Given the description of an element on the screen output the (x, y) to click on. 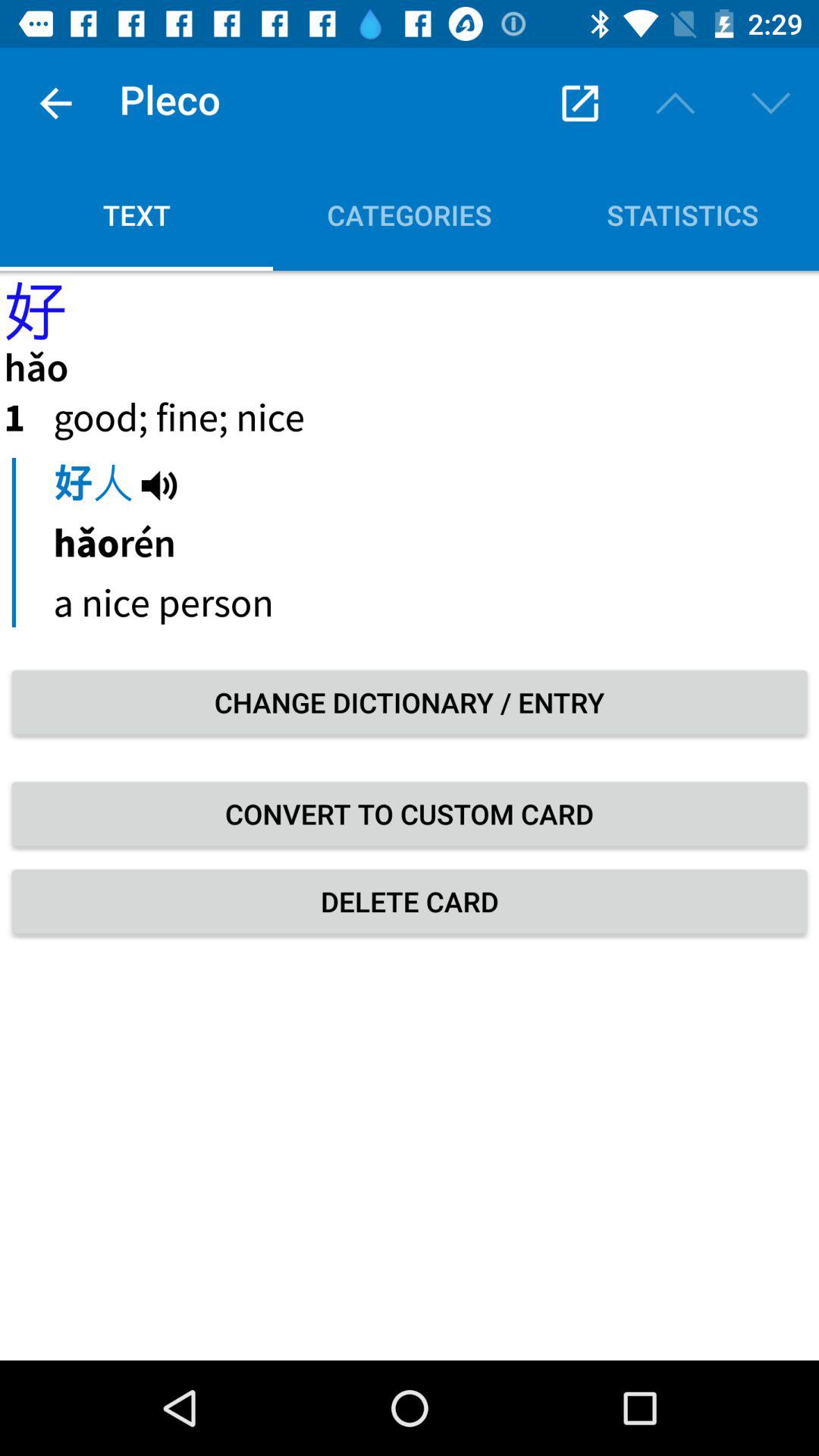
turn off the icon next to the text (409, 214)
